Given the description of an element on the screen output the (x, y) to click on. 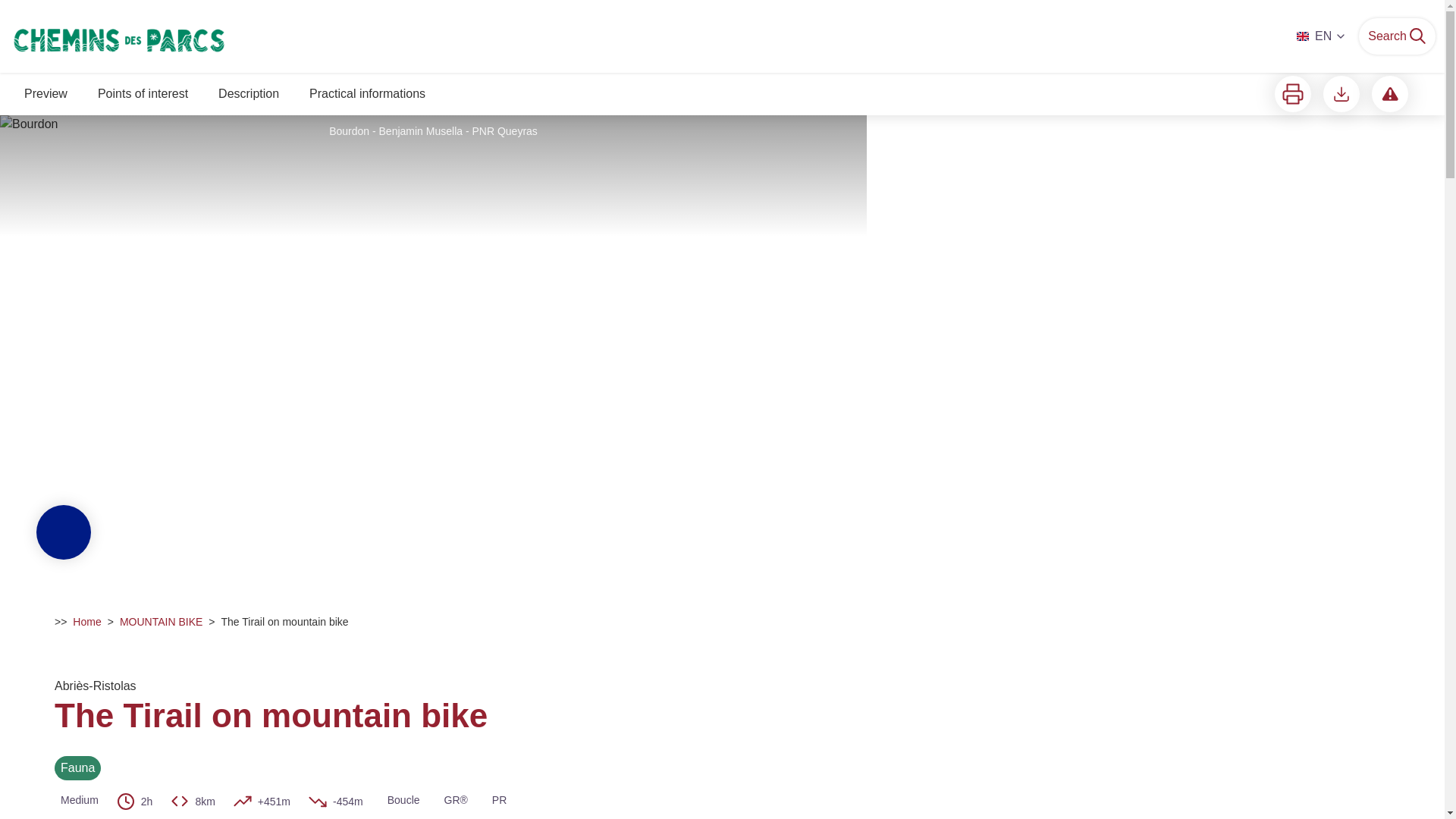
Chemins des Parcs (236, 36)
MOUNTAIN BIKE (160, 621)
Description (248, 95)
Points of interest (142, 95)
Preview (45, 95)
Home (86, 621)
Search (1396, 36)
Practical informations (366, 95)
EN (1321, 36)
